Given the description of an element on the screen output the (x, y) to click on. 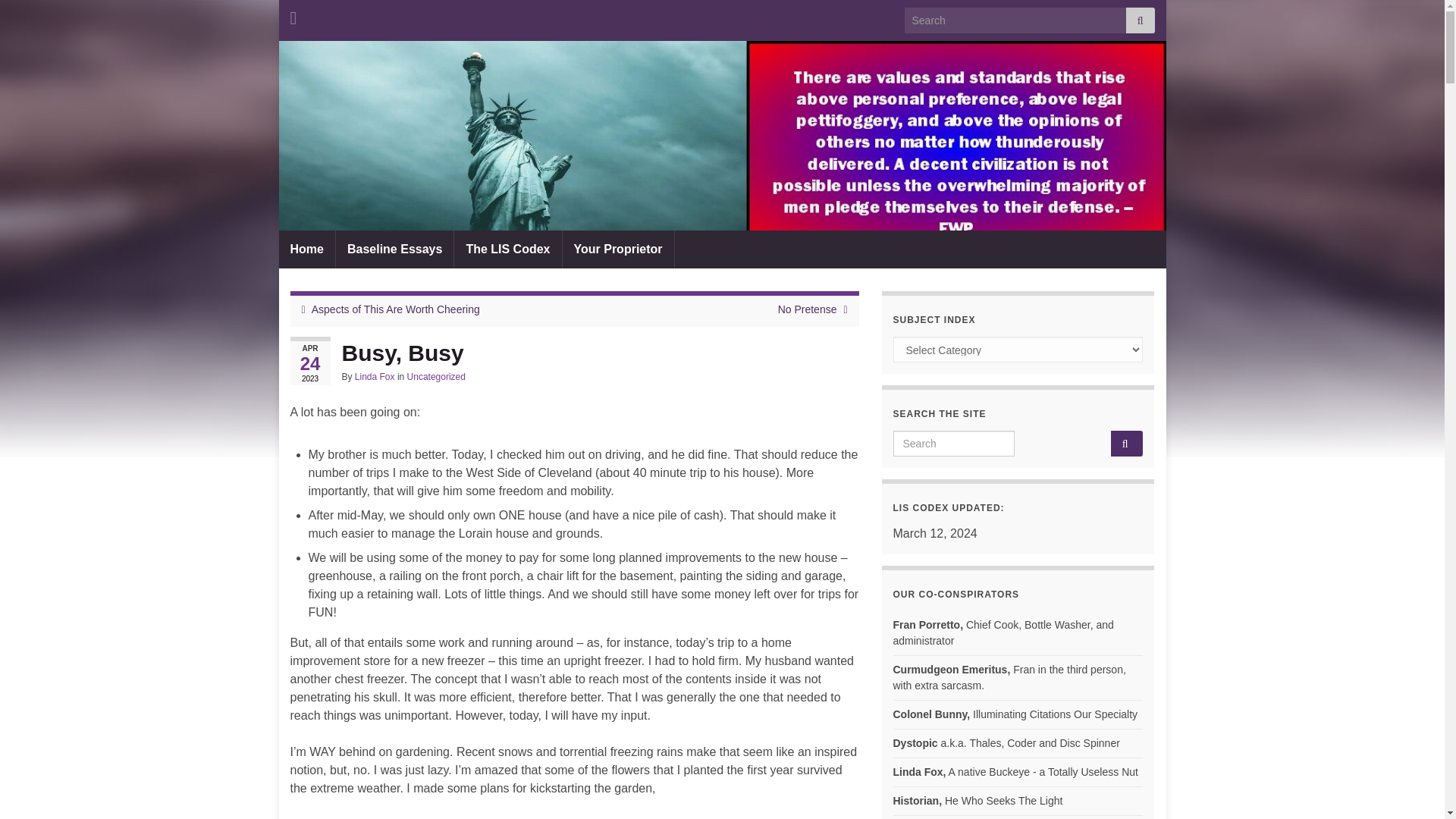
Home (306, 249)
Linda Fox (374, 376)
Your Proprietor (618, 249)
Aspects of This Are Worth Cheering (395, 309)
No Pretense (807, 309)
The LIS Codex (507, 249)
Baseline Essays (394, 249)
Uncategorized (436, 376)
